Given the description of an element on the screen output the (x, y) to click on. 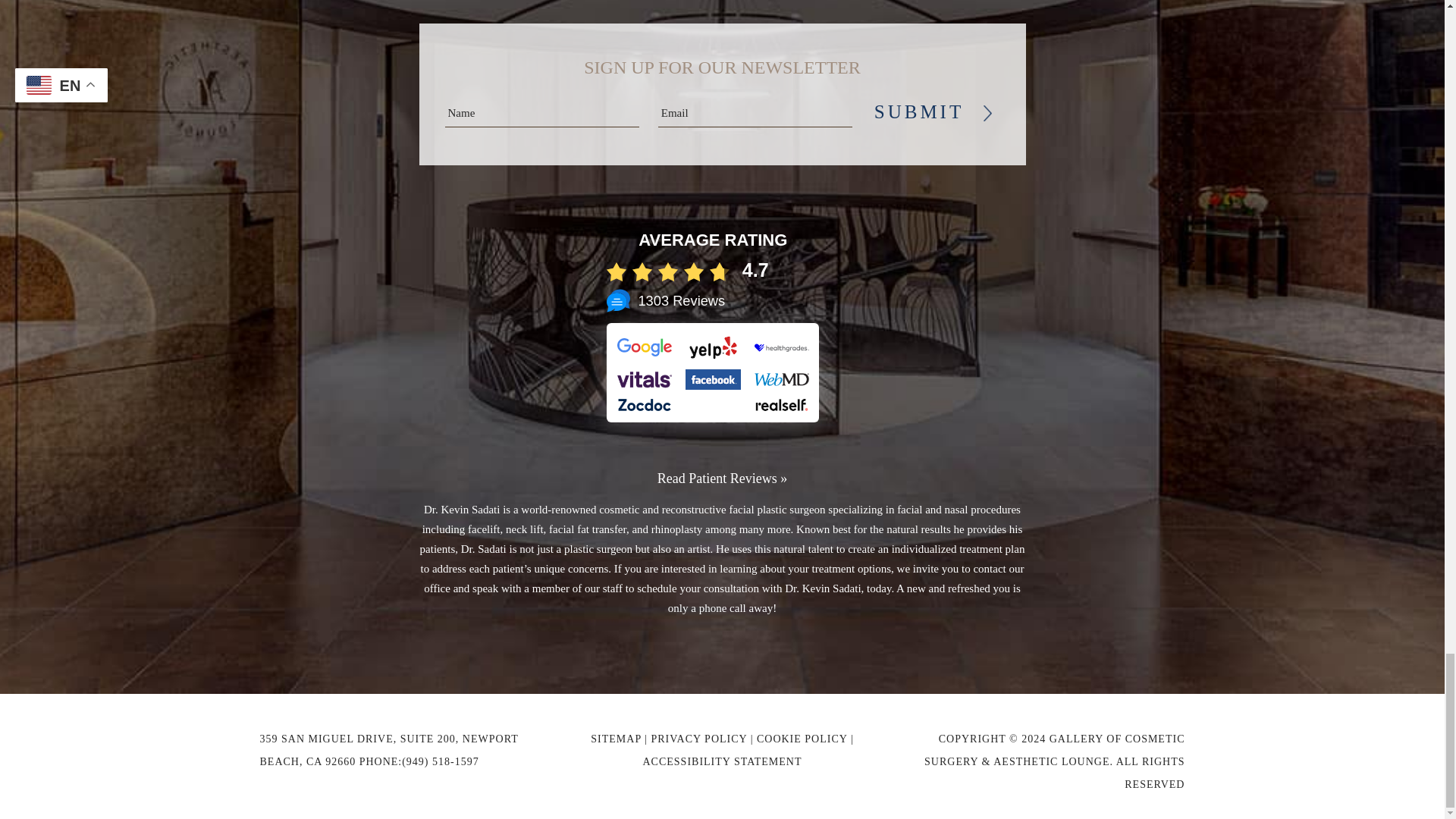
Submit (921, 111)
